Given the description of an element on the screen output the (x, y) to click on. 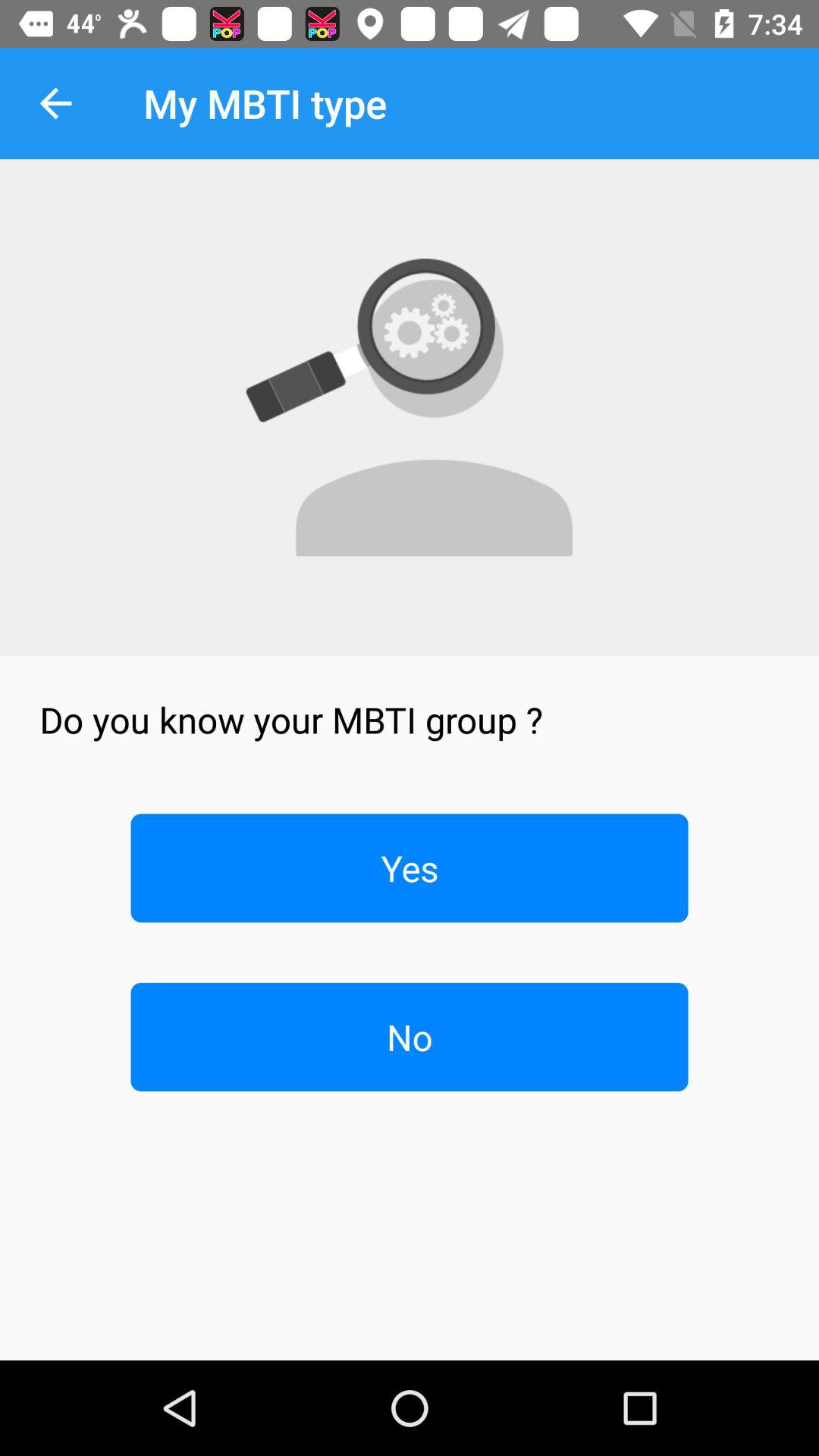
open yes item (409, 867)
